Given the description of an element on the screen output the (x, y) to click on. 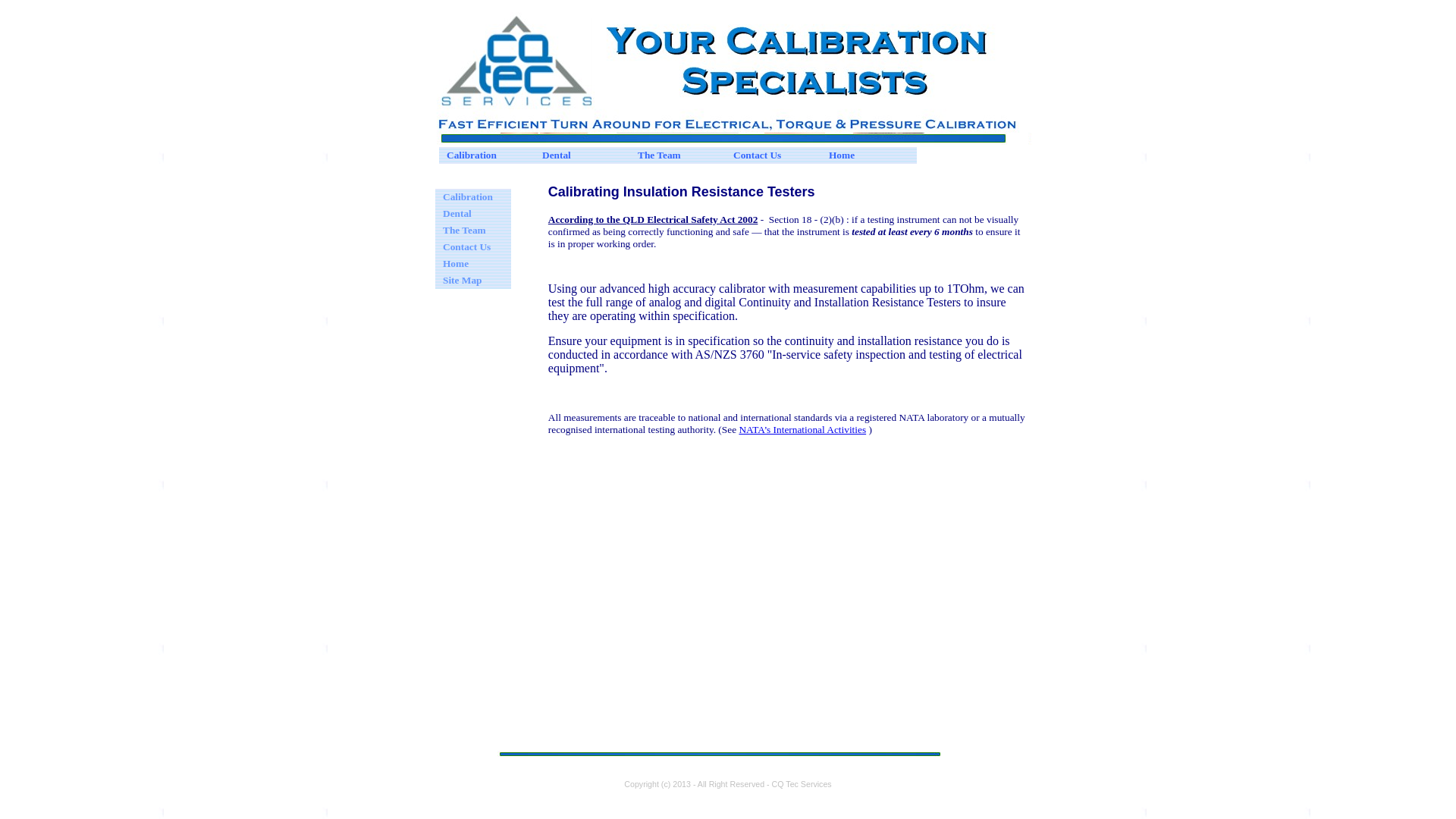
Home Element type: text (473, 263)
Contact Us Element type: text (473, 247)
Home Element type: text (868, 155)
The Team Element type: text (677, 155)
The Team Element type: text (473, 230)
Site Map Element type: text (473, 280)
Dental Element type: text (582, 155)
Calibration Element type: text (473, 197)
Calibration Element type: text (486, 155)
Contact Us Element type: text (773, 155)
Dental Element type: text (473, 213)
